Given the description of an element on the screen output the (x, y) to click on. 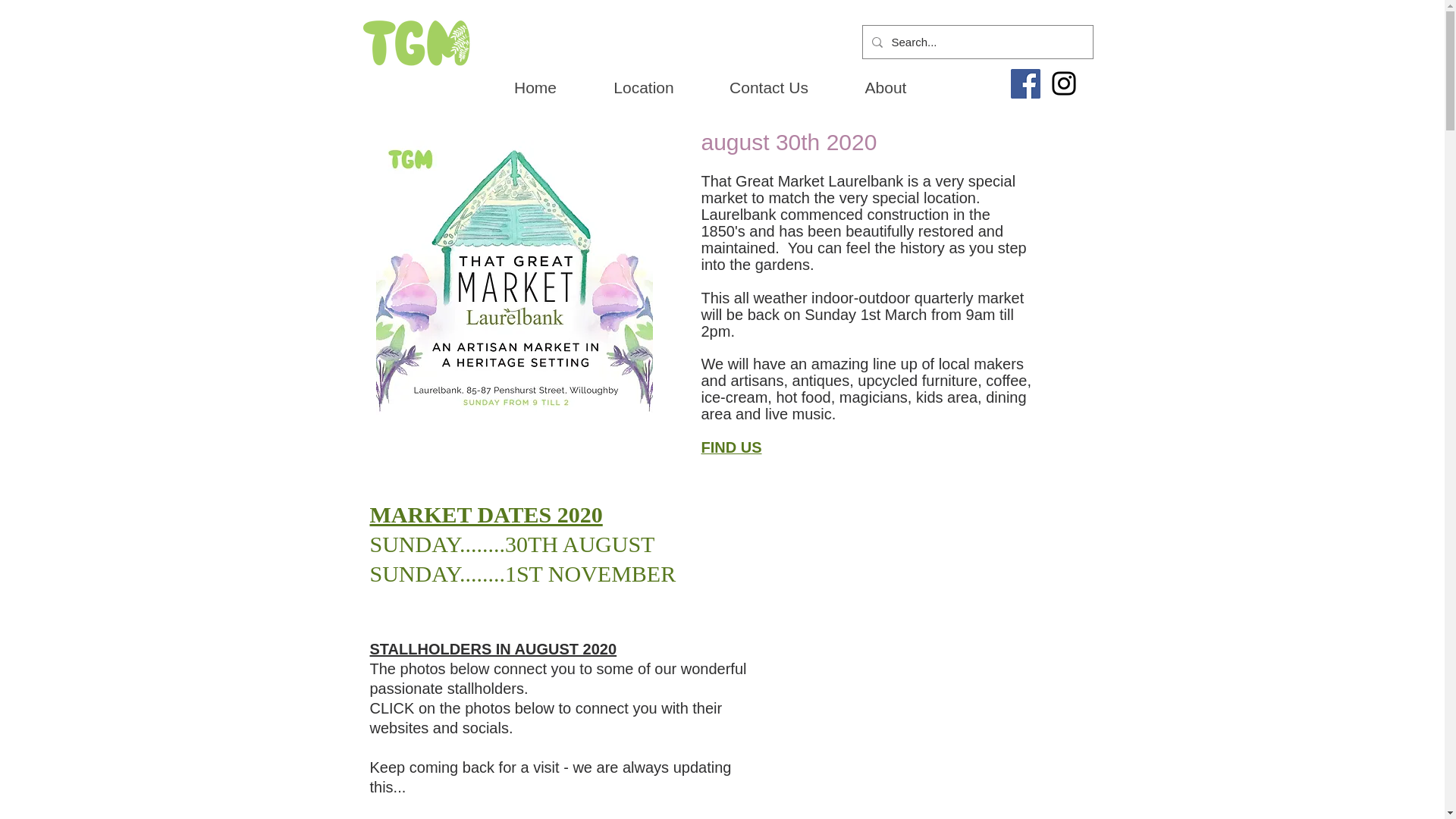
Location (643, 88)
About (885, 88)
FIND US (730, 448)
Contact Us (768, 88)
Home (534, 88)
